Given the description of an element on the screen output the (x, y) to click on. 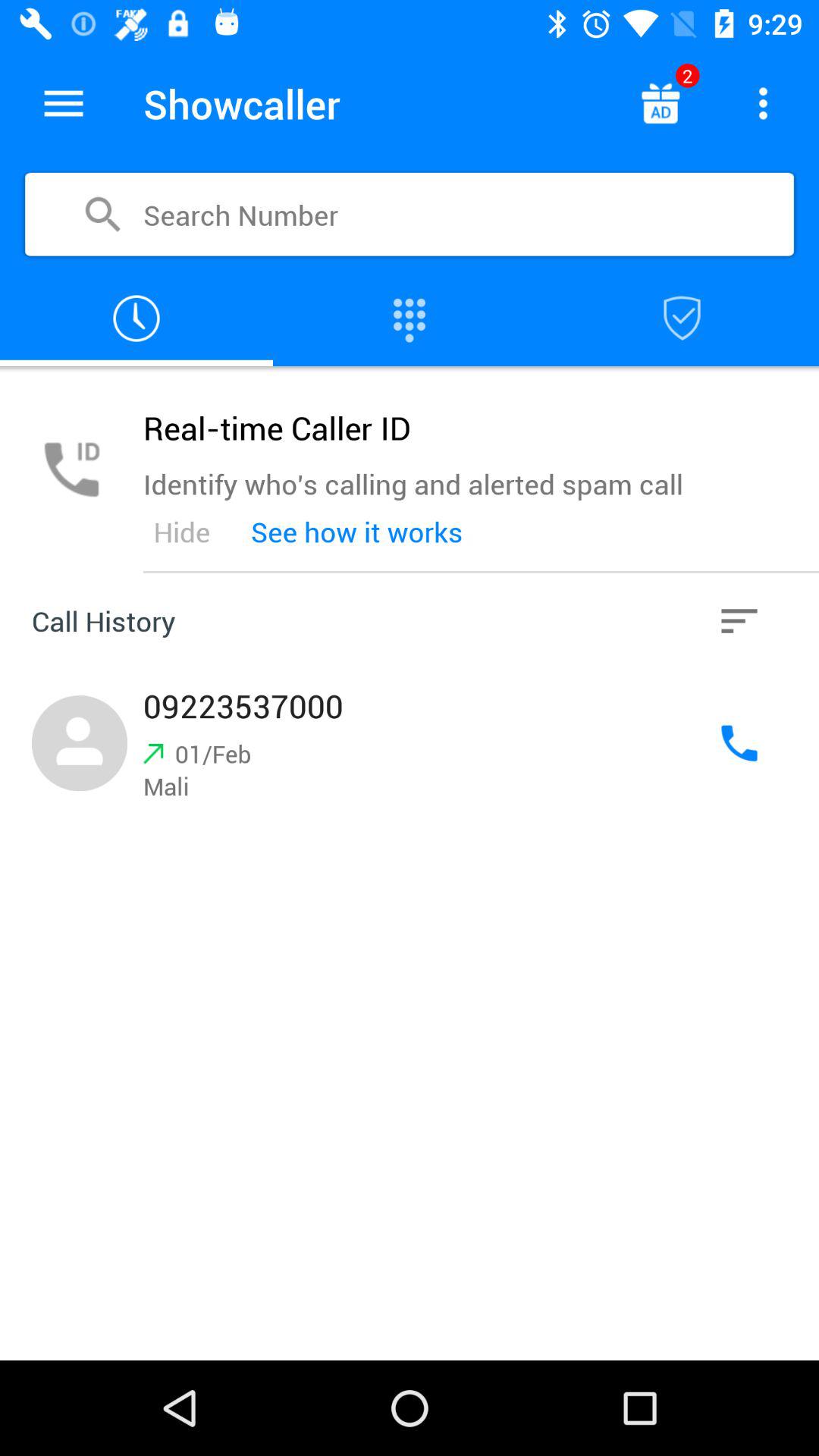
history option (739, 620)
